Given the description of an element on the screen output the (x, y) to click on. 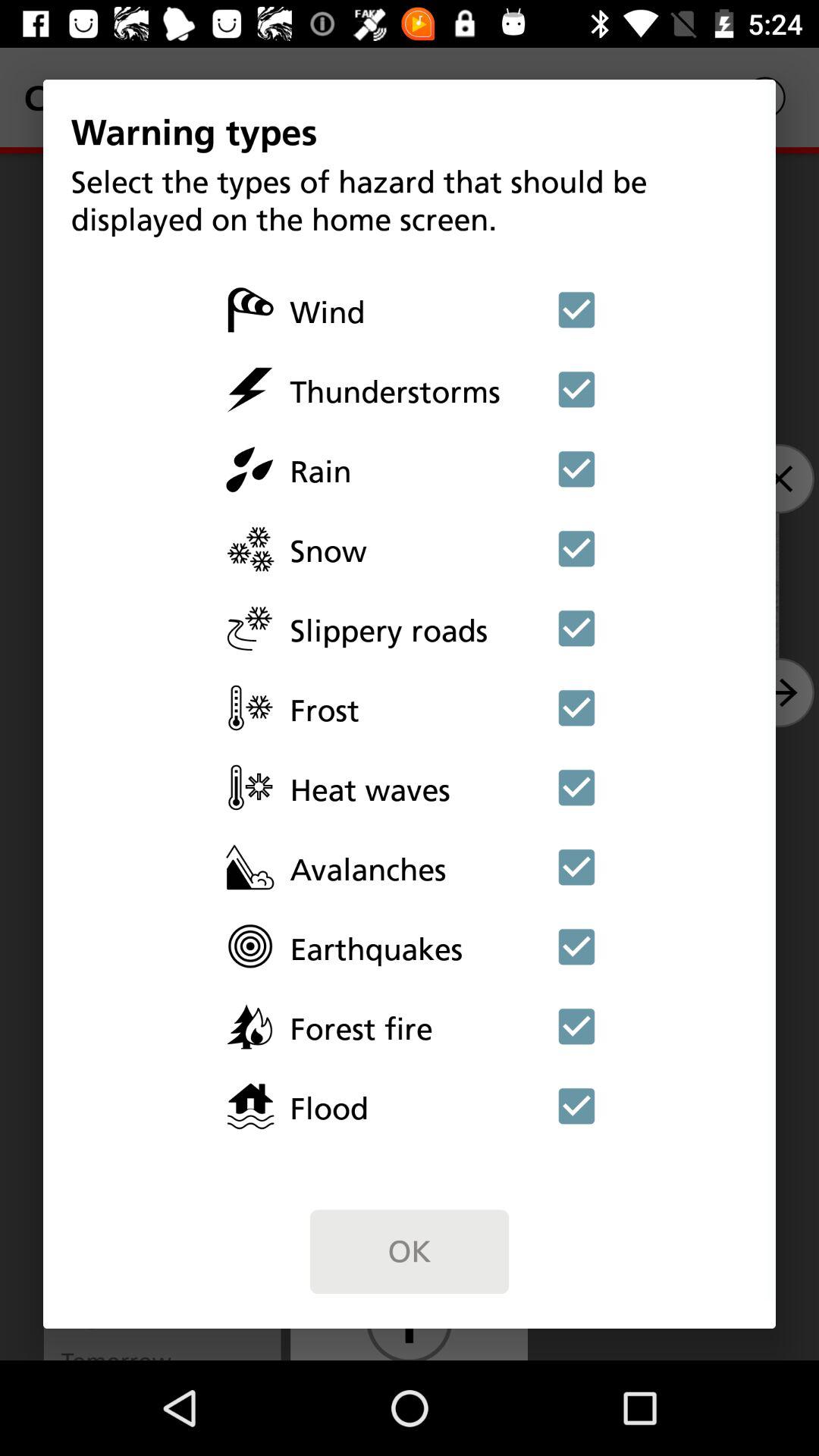
deselect flood (576, 1106)
